Given the description of an element on the screen output the (x, y) to click on. 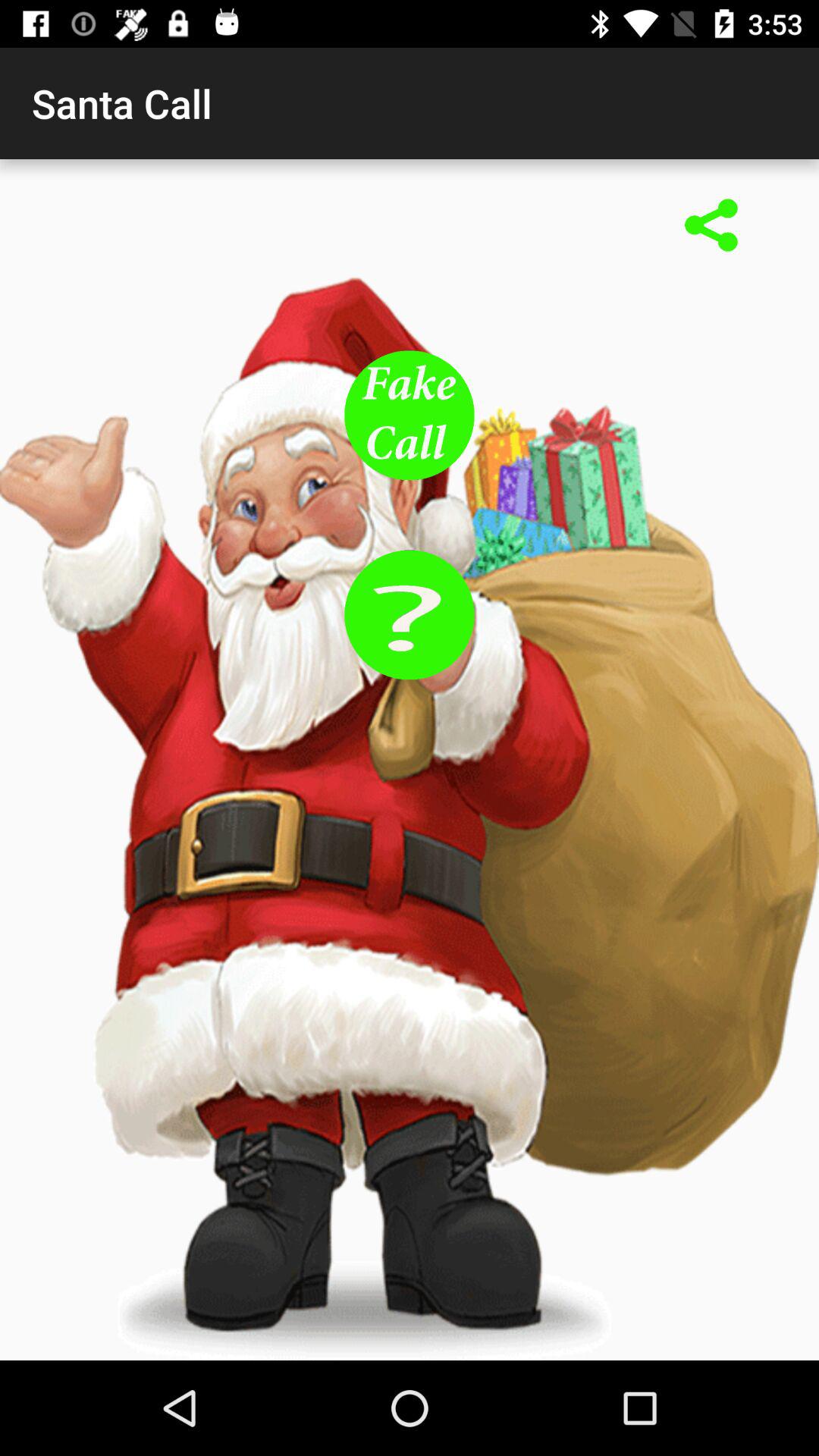
request fake call (409, 415)
